Given the description of an element on the screen output the (x, y) to click on. 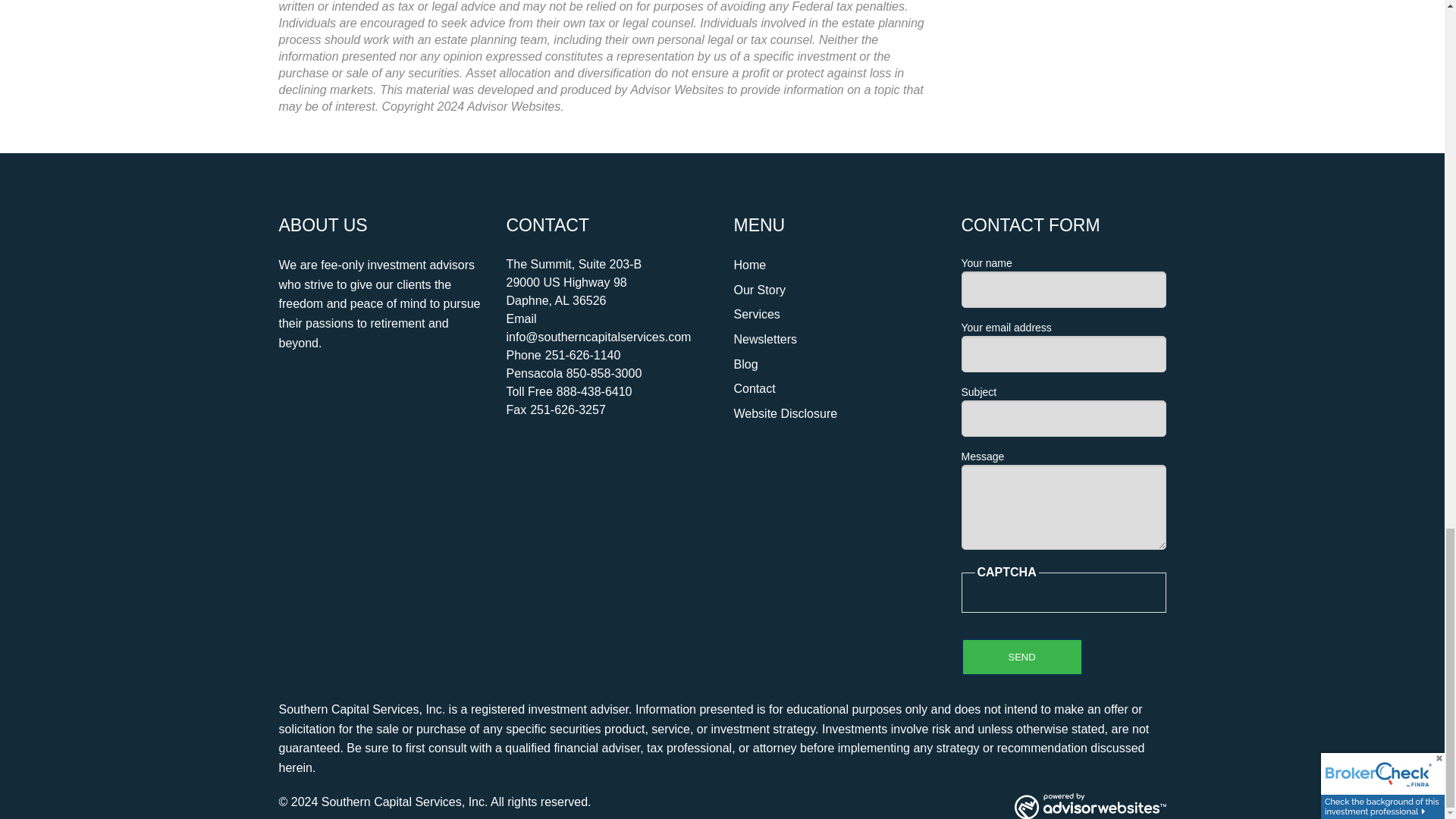
Send (1021, 656)
